Given the description of an element on the screen output the (x, y) to click on. 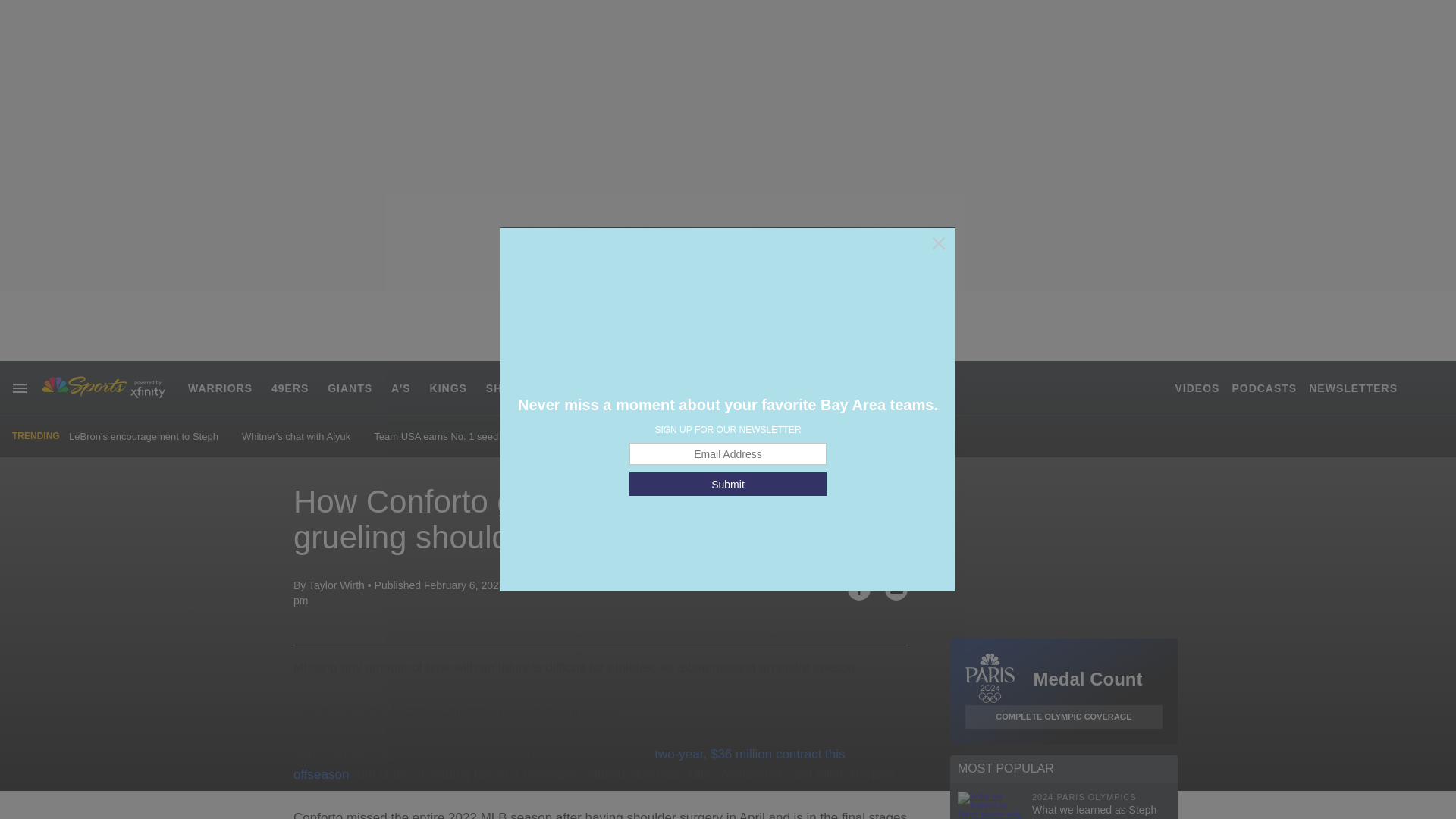
NEWSLETTERS (1352, 387)
A'S (400, 387)
Brown a nuisance for 49ers' offense (599, 436)
COMPLETE OLYMPIC COVERAGE (1063, 716)
49ERS (289, 387)
KINGS (448, 387)
WARRIORS (219, 387)
PODCASTS (1264, 387)
VIDEOS (1197, 387)
LeBron's encouragement to Steph (143, 436)
Team USA earns No. 1 seed (435, 436)
Taylor Wirth (336, 585)
GIANTS (349, 387)
SHARKS (510, 387)
